Given the description of an element on the screen output the (x, y) to click on. 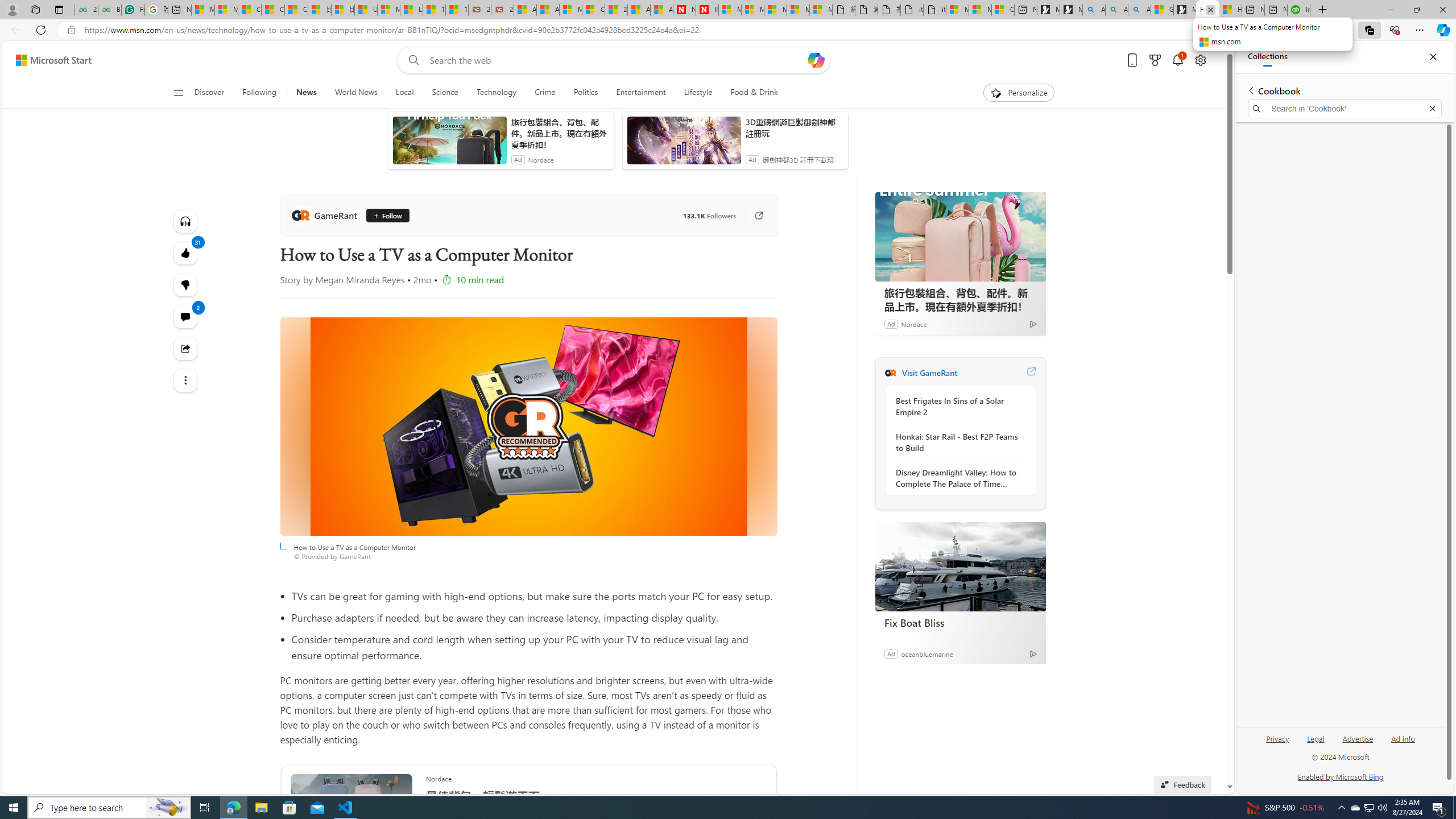
Best SSL Certificates Provider in India - GeeksforGeeks (109, 9)
Follow (386, 215)
View comments 2 Comment (184, 316)
